Given the description of an element on the screen output the (x, y) to click on. 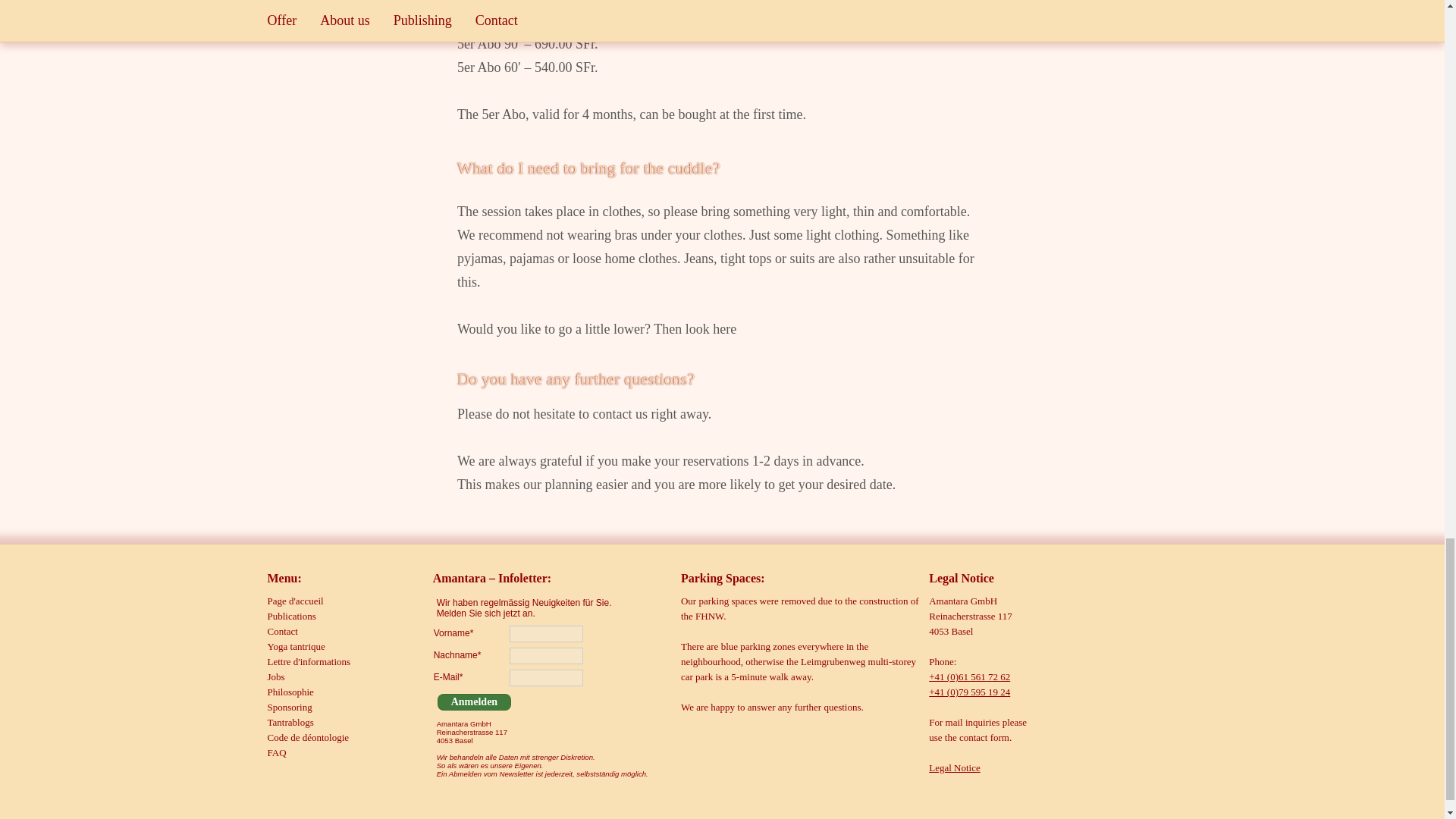
Jobs (274, 676)
Tantrablogs (289, 722)
Anmelden (474, 701)
Contact (281, 631)
FAQ (275, 752)
Philosophie (289, 691)
Lettre d'informations (308, 661)
Sponsoring (288, 706)
Page d'accueil (294, 600)
Publications (290, 615)
